Given the description of an element on the screen output the (x, y) to click on. 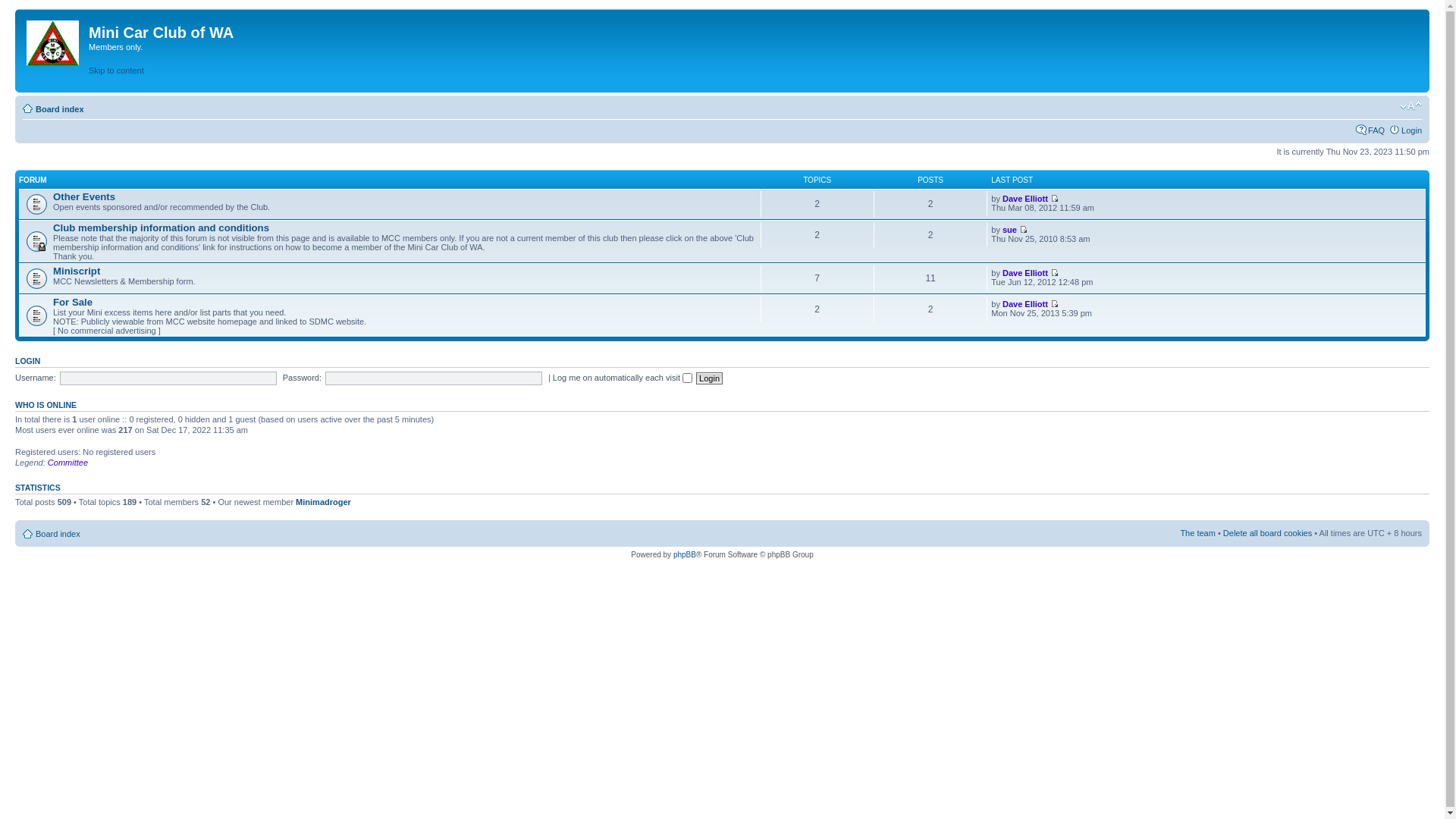
Club membership information and conditions Element type: text (161, 227)
phpBB Element type: text (684, 554)
View the latest post Element type: hover (1054, 197)
Committee Element type: text (67, 462)
View the latest post Element type: hover (1054, 272)
Dave Elliott Element type: text (1025, 198)
Board index Element type: text (57, 533)
The team Element type: text (1196, 532)
Skip to content Element type: text (116, 70)
View the latest post Element type: hover (1054, 303)
Minimadroger Element type: text (323, 501)
Delete all board cookies Element type: text (1267, 532)
Login Element type: text (1411, 129)
FAQ Element type: text (1376, 129)
Dave Elliott Element type: text (1025, 303)
Login Element type: text (709, 378)
For Sale Element type: text (72, 301)
Board index Element type: text (59, 108)
Board index Element type: hover (53, 39)
Password Element type: hover (433, 378)
Change font size Element type: text (1410, 105)
Miniscript Element type: text (76, 270)
Username Element type: hover (167, 378)
sue Element type: text (1009, 229)
LOGIN Element type: text (27, 360)
Other Events Element type: text (84, 196)
Dave Elliott Element type: text (1025, 272)
View the latest post Element type: hover (1023, 228)
